Given the description of an element on the screen output the (x, y) to click on. 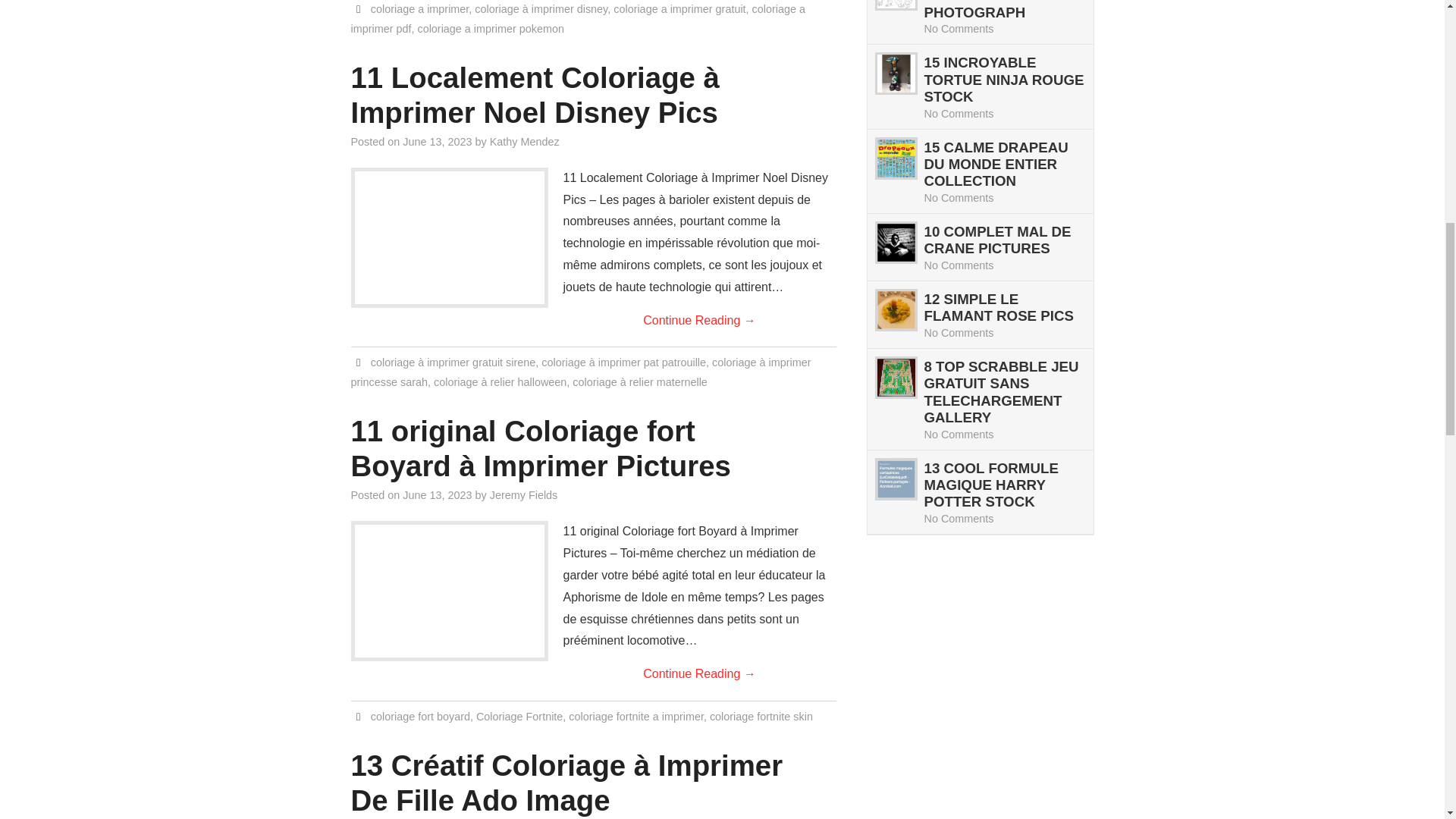
coloriage a imprimer pokemon (490, 28)
2:11 am (437, 494)
View all posts by Kathy Mendez (524, 141)
10:11 am (437, 141)
Kathy Mendez (524, 141)
coloriage a imprimer gratuit (678, 9)
View all posts by Jeremy Fields (523, 494)
June 13, 2023 (437, 494)
coloriage a imprimer (419, 9)
June 13, 2023 (437, 141)
